Given the description of an element on the screen output the (x, y) to click on. 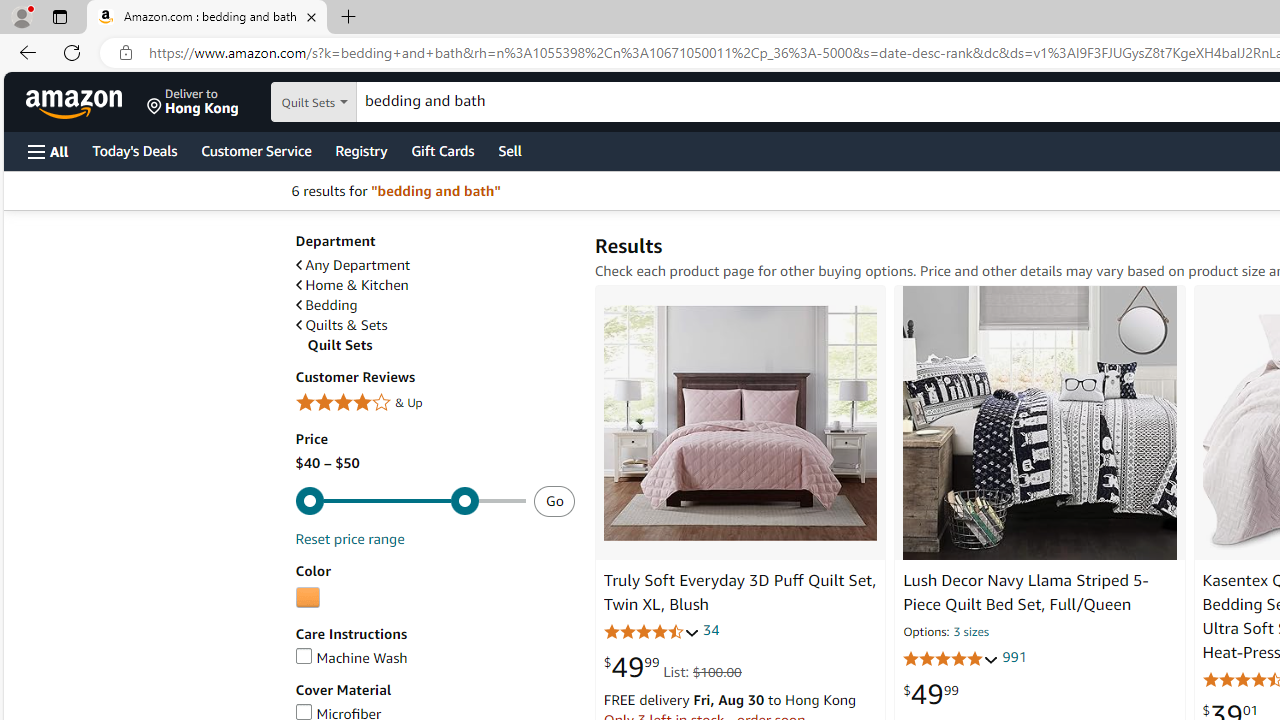
Bedding (326, 305)
Maximum (410, 500)
4.3 out of 5 stars (651, 631)
4 Stars & Up& Up (434, 404)
Today's Deals (134, 150)
Home & Kitchen (434, 285)
Amazon.com : bedding and bath (207, 17)
34 (710, 629)
$49.99 List: $100.00 (672, 666)
Search in (371, 102)
Registry (360, 150)
